Given the description of an element on the screen output the (x, y) to click on. 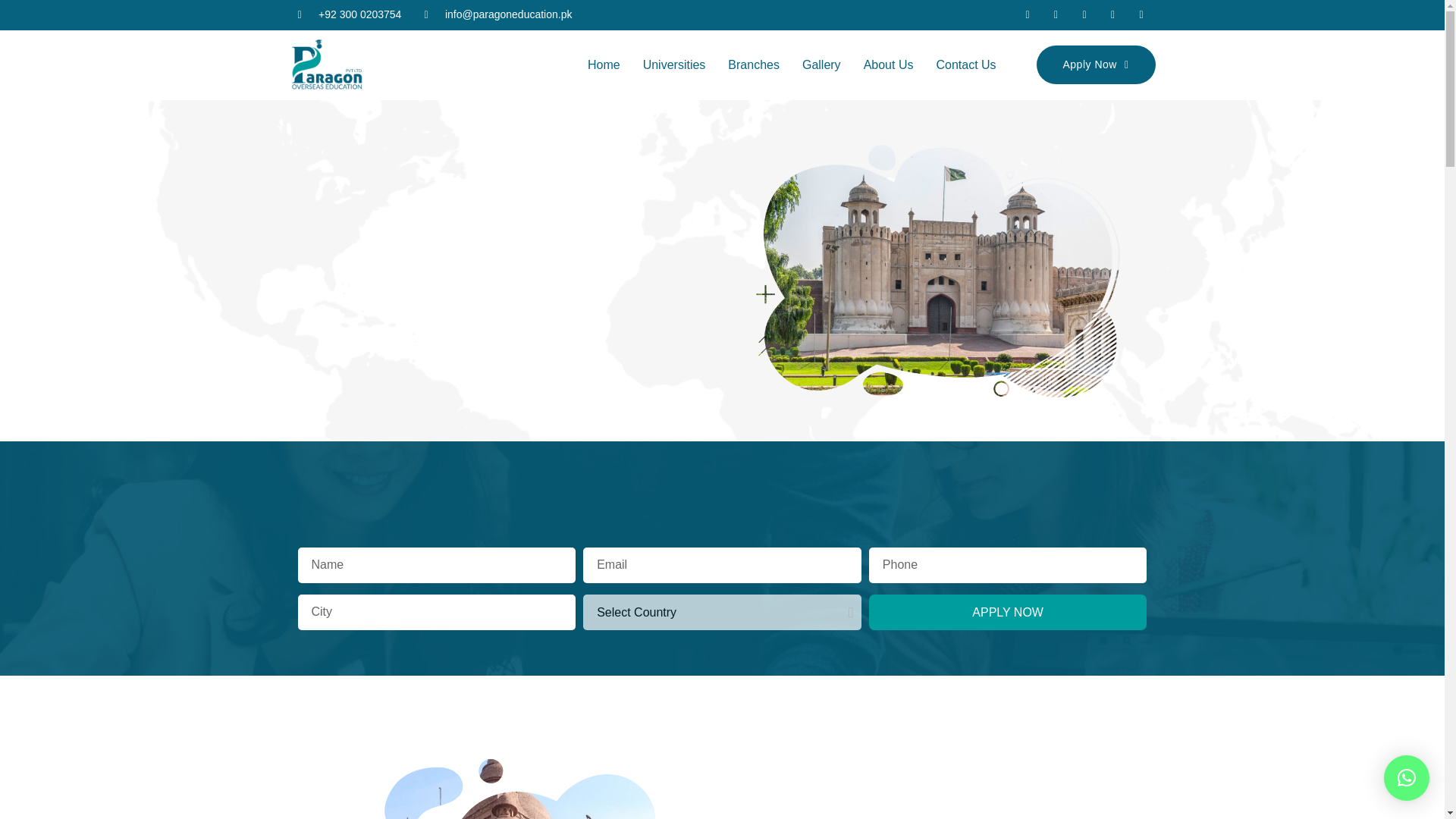
Universities (674, 65)
About Us (887, 65)
Branches (753, 65)
Gallery (820, 65)
Home (603, 65)
Contact Us (965, 65)
